Given the description of an element on the screen output the (x, y) to click on. 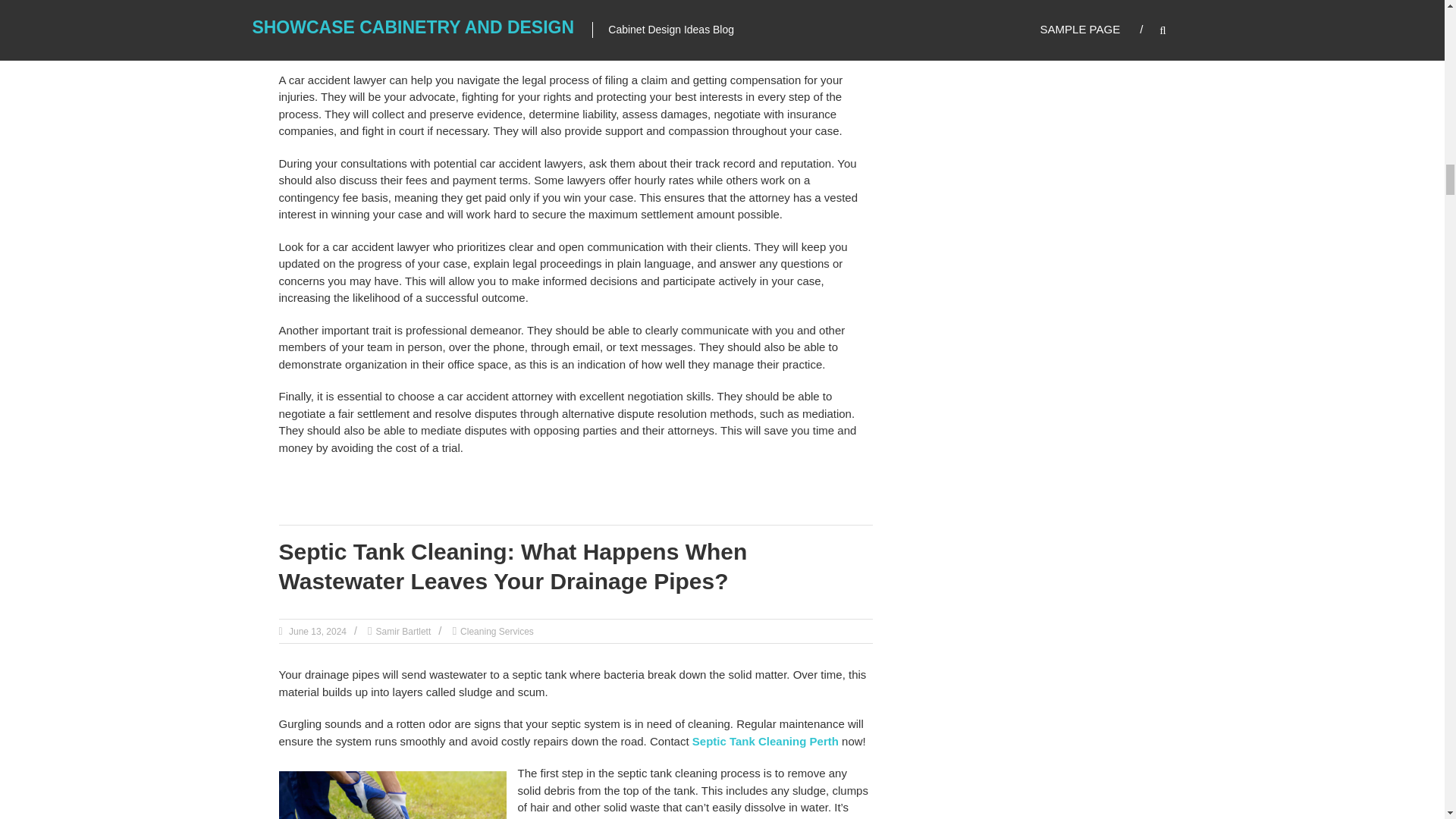
Septic Tank Cleaning Perth (765, 740)
Samir Bartlett (402, 631)
June 13, 2024 (316, 631)
Cleaning Services (497, 631)
12:01 pm (316, 631)
Samir Bartlett (402, 631)
